Given the description of an element on the screen output the (x, y) to click on. 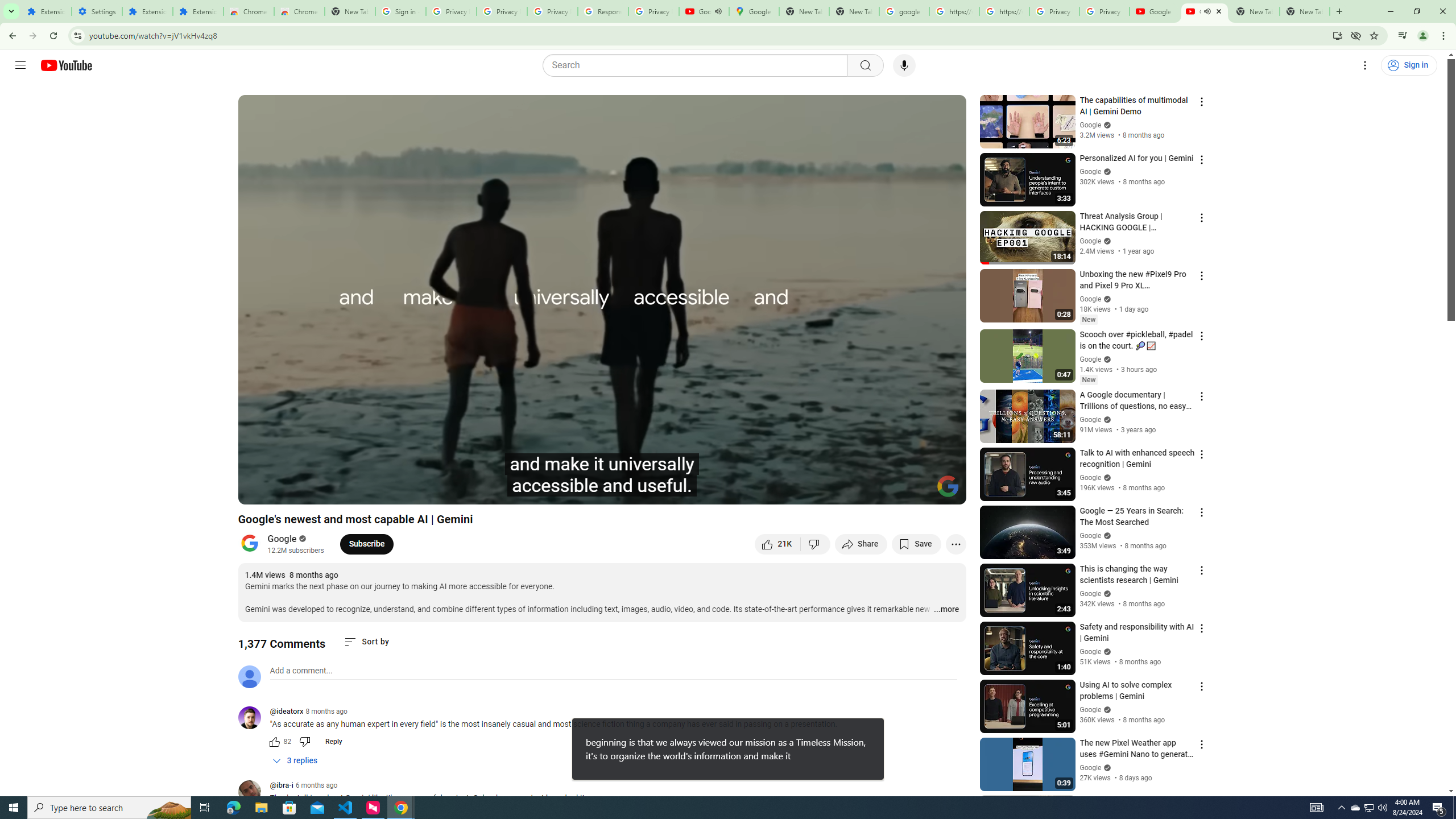
Channel watermark (947, 486)
Subtitles/closed captions unavailable (836, 490)
Mute tab (1206, 10)
Sign in - Google Accounts (399, 11)
like this video along with 21,118 other people (777, 543)
Search tabs (10, 11)
New Tab (350, 11)
Google - YouTube (1154, 11)
Channel watermark (947, 486)
Chrome Web Store - Themes (299, 11)
Full screen (f) (945, 490)
3 replies (295, 761)
